Given the description of an element on the screen output the (x, y) to click on. 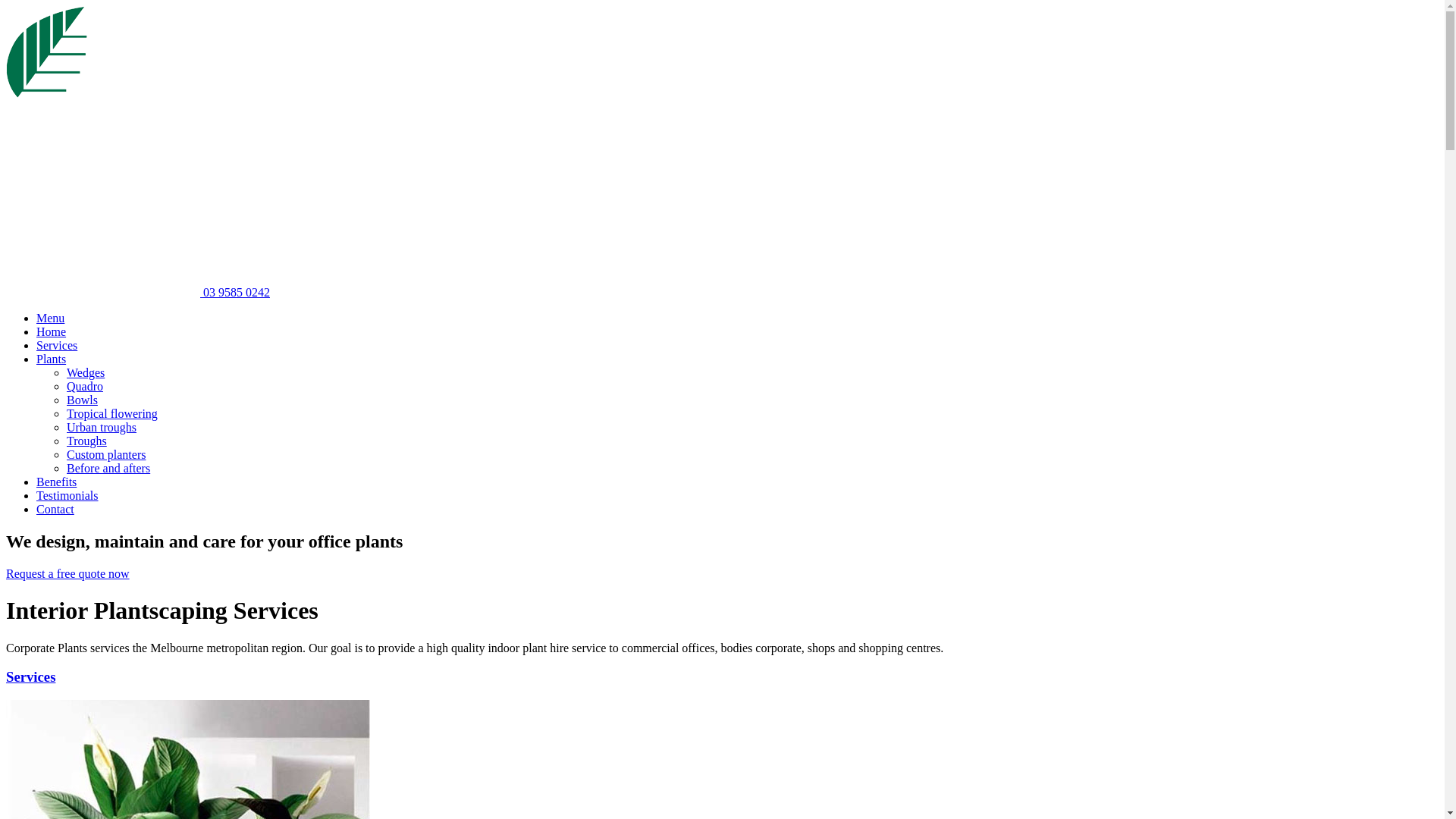
Quadro Element type: text (84, 385)
Before and afters Element type: text (108, 467)
Bowls Element type: text (81, 399)
Testimonials Element type: text (67, 495)
Contact Element type: text (55, 508)
Urban troughs Element type: text (101, 426)
03 9585 0242 Element type: text (137, 291)
Troughs Element type: text (86, 440)
Request a free quote now Element type: text (67, 573)
Plants Element type: text (50, 358)
Menu Element type: text (50, 317)
Home Element type: text (50, 331)
Custom planters Element type: text (105, 454)
Wedges Element type: text (85, 372)
Services Element type: text (30, 676)
Tropical flowering Element type: text (111, 413)
Services Element type: text (56, 344)
Benefits Element type: text (56, 481)
